Given the description of an element on the screen output the (x, y) to click on. 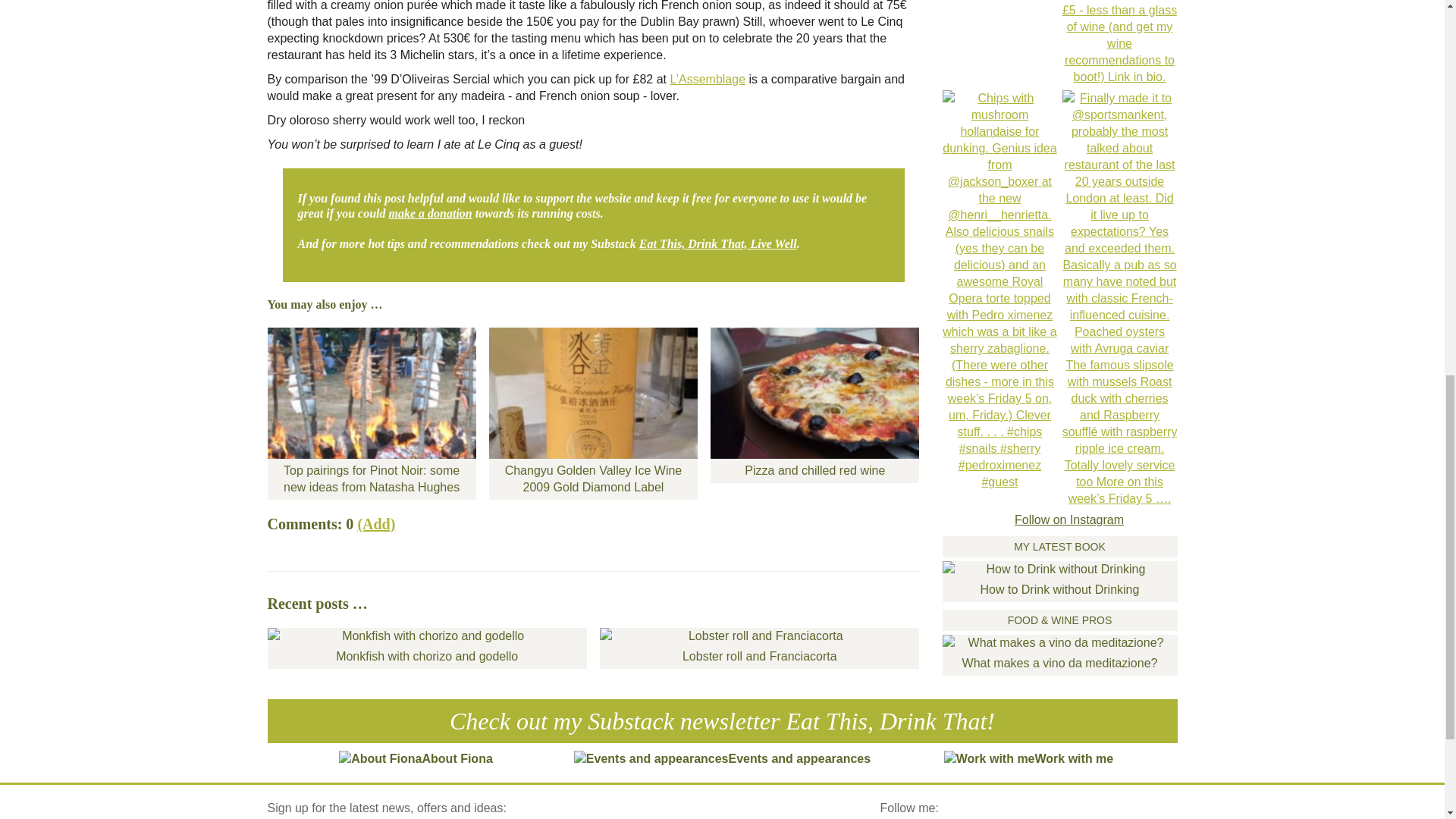
Changyu Golden Valley Ice Wine 2009 Gold Diamond Label (593, 413)
make a donation (429, 213)
Eat This, Drink That, Live Well (717, 243)
Pizza and chilled red wine (814, 405)
